Given the description of an element on the screen output the (x, y) to click on. 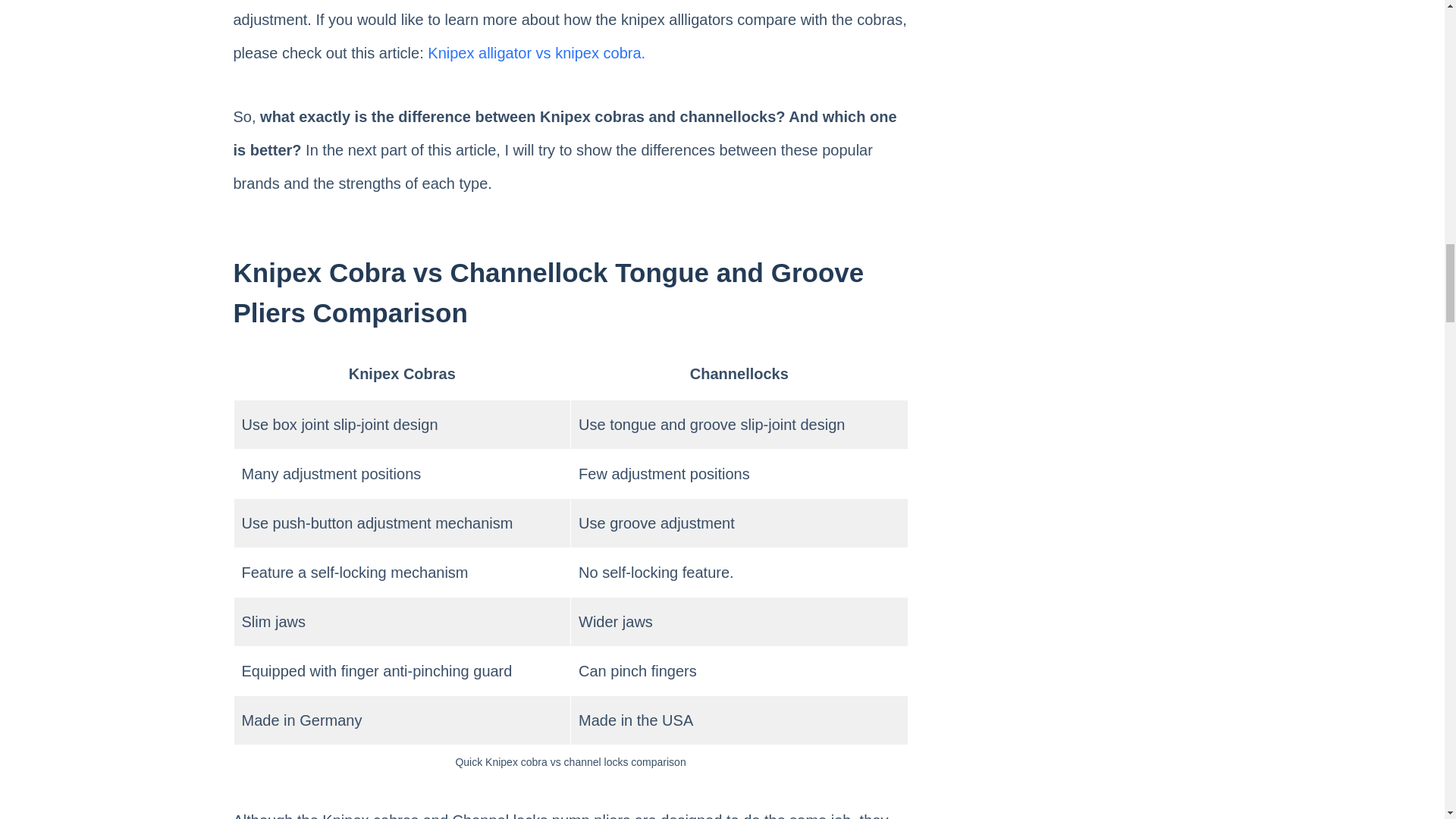
Knipex alligator vs knipex cobra. (536, 53)
